Given the description of an element on the screen output the (x, y) to click on. 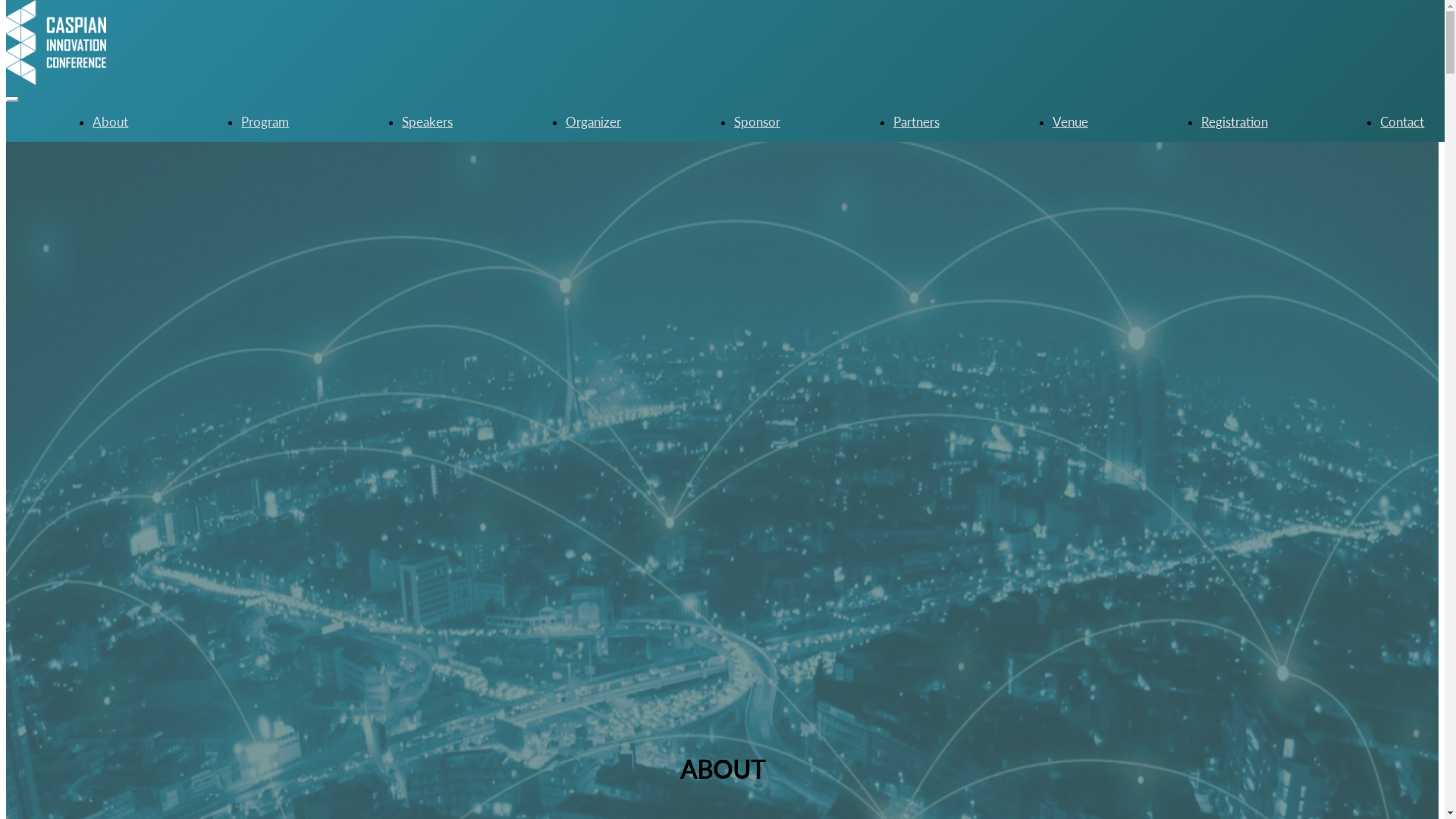
Organizer Element type: text (593, 121)
Registration Element type: text (1234, 121)
Venue Element type: text (1070, 121)
Contact Element type: text (1402, 121)
Partners Element type: text (916, 121)
About Element type: text (110, 121)
Speakers Element type: text (426, 121)
Program Element type: text (264, 121)
Sponsor Element type: text (757, 121)
